Given the description of an element on the screen output the (x, y) to click on. 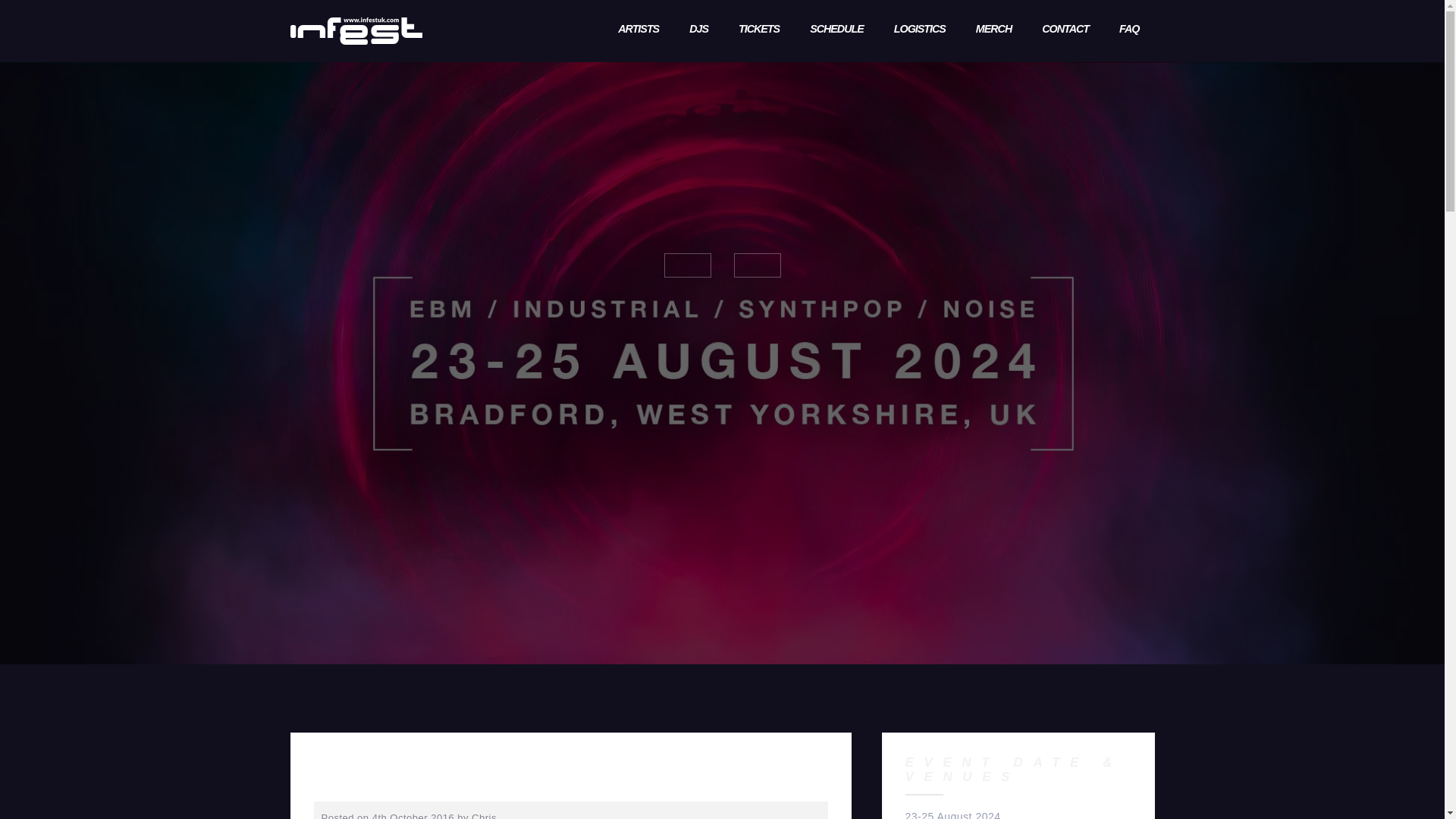
Chris (483, 815)
SCHEDULE (836, 30)
MERCH (993, 30)
4th October 2016 (413, 815)
CONTACT (1065, 30)
Infest Festival (355, 30)
TICKETS (758, 30)
Search (43, 20)
LOGISTICS (918, 30)
